Given the description of an element on the screen output the (x, y) to click on. 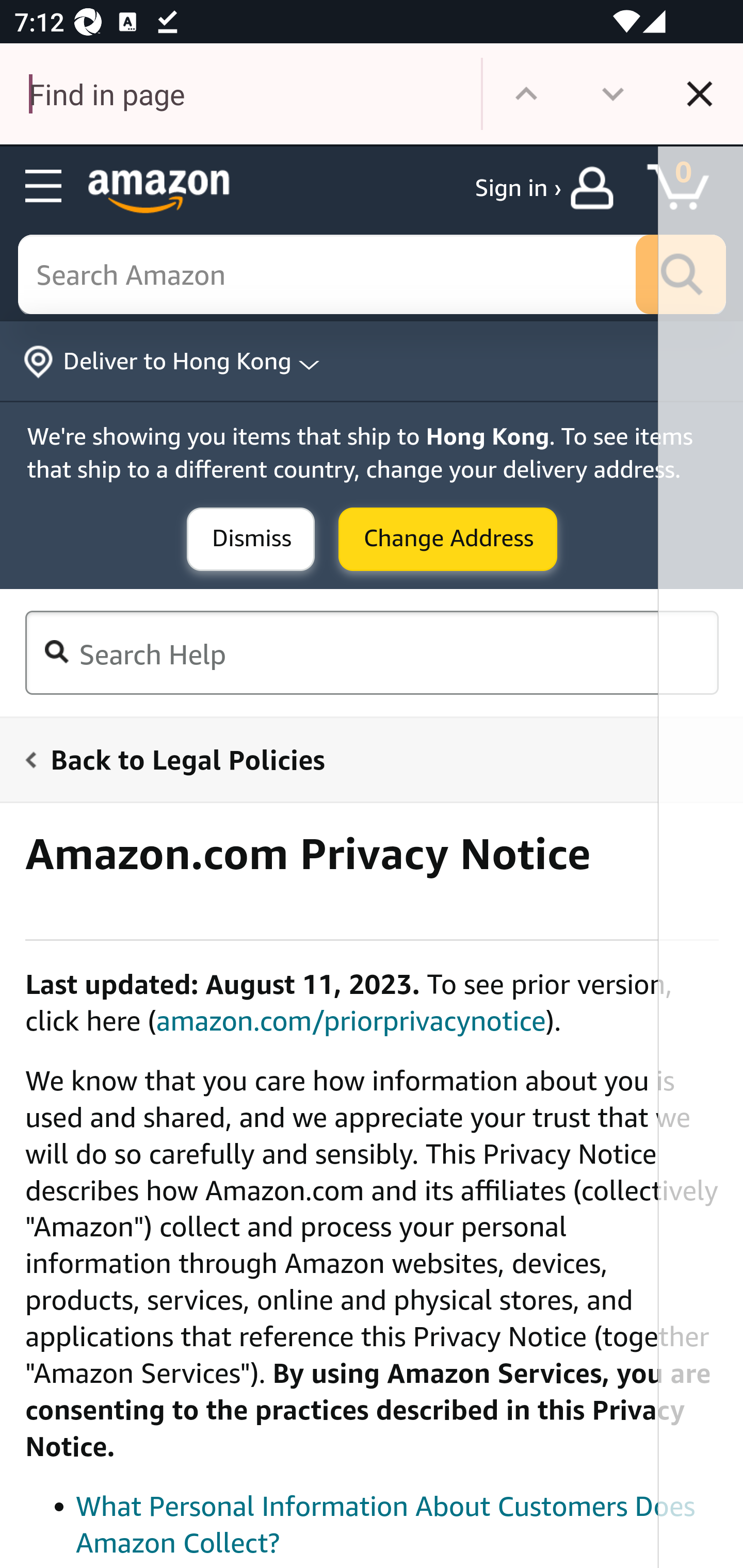
Find in page (239, 93)
Previous (525, 93)
Next (612, 93)
Close (699, 93)
Open Menu (44, 187)
Sign in › (518, 188)
your account (596, 188)
Cart 0 (687, 188)
Amazon (158, 191)
Go (681, 275)
Submit (250, 539)
Submit (447, 539)
Back to Legal Policies (359, 758)
amazon.com/priorprivacynotice (350, 1020)
